Given the description of an element on the screen output the (x, y) to click on. 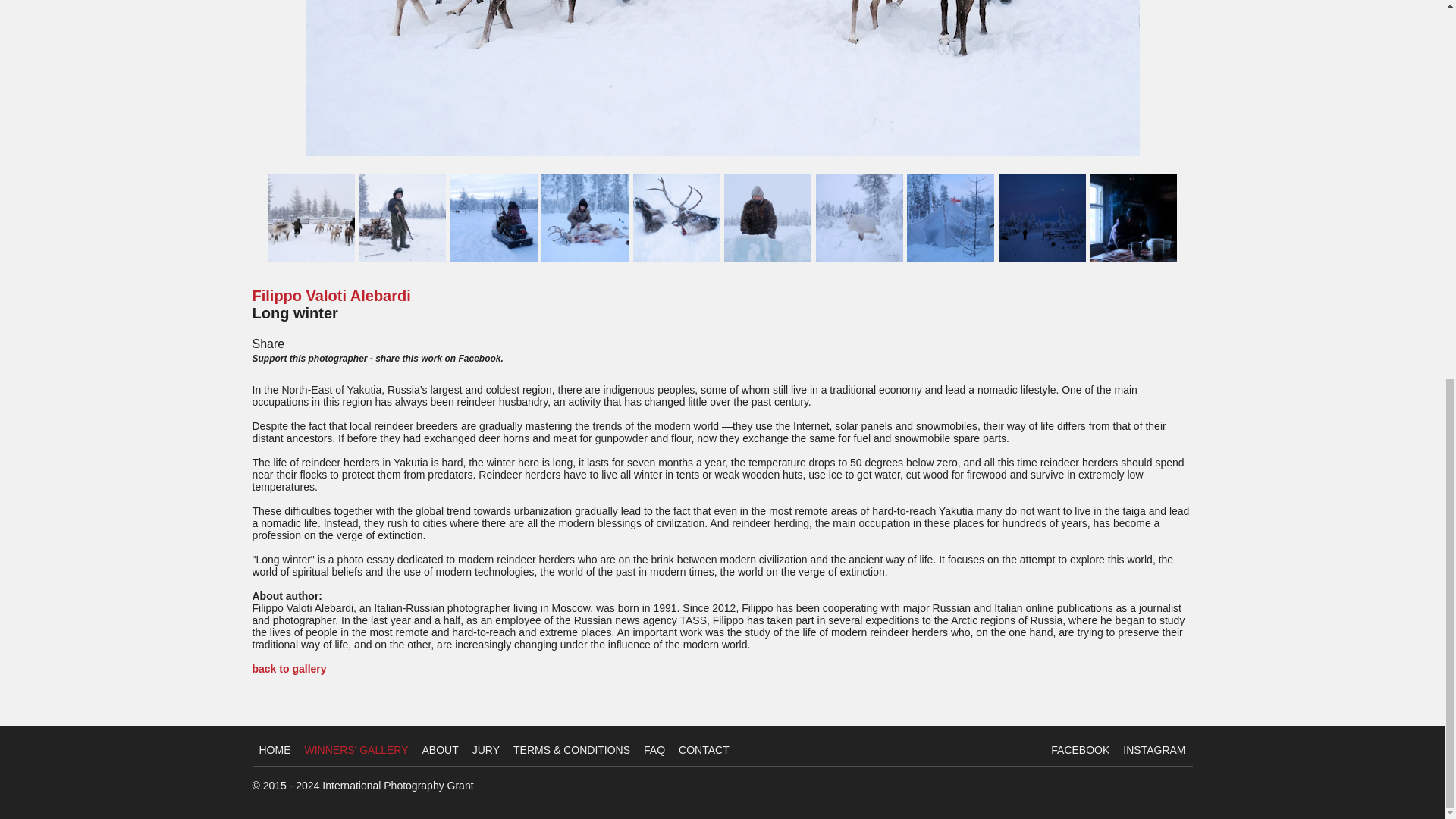
WINNERS' GALLERY (356, 749)
ABOUT (440, 749)
Share (267, 343)
JURY (485, 749)
back to gallery (288, 668)
HOME (275, 749)
